Given the description of an element on the screen output the (x, y) to click on. 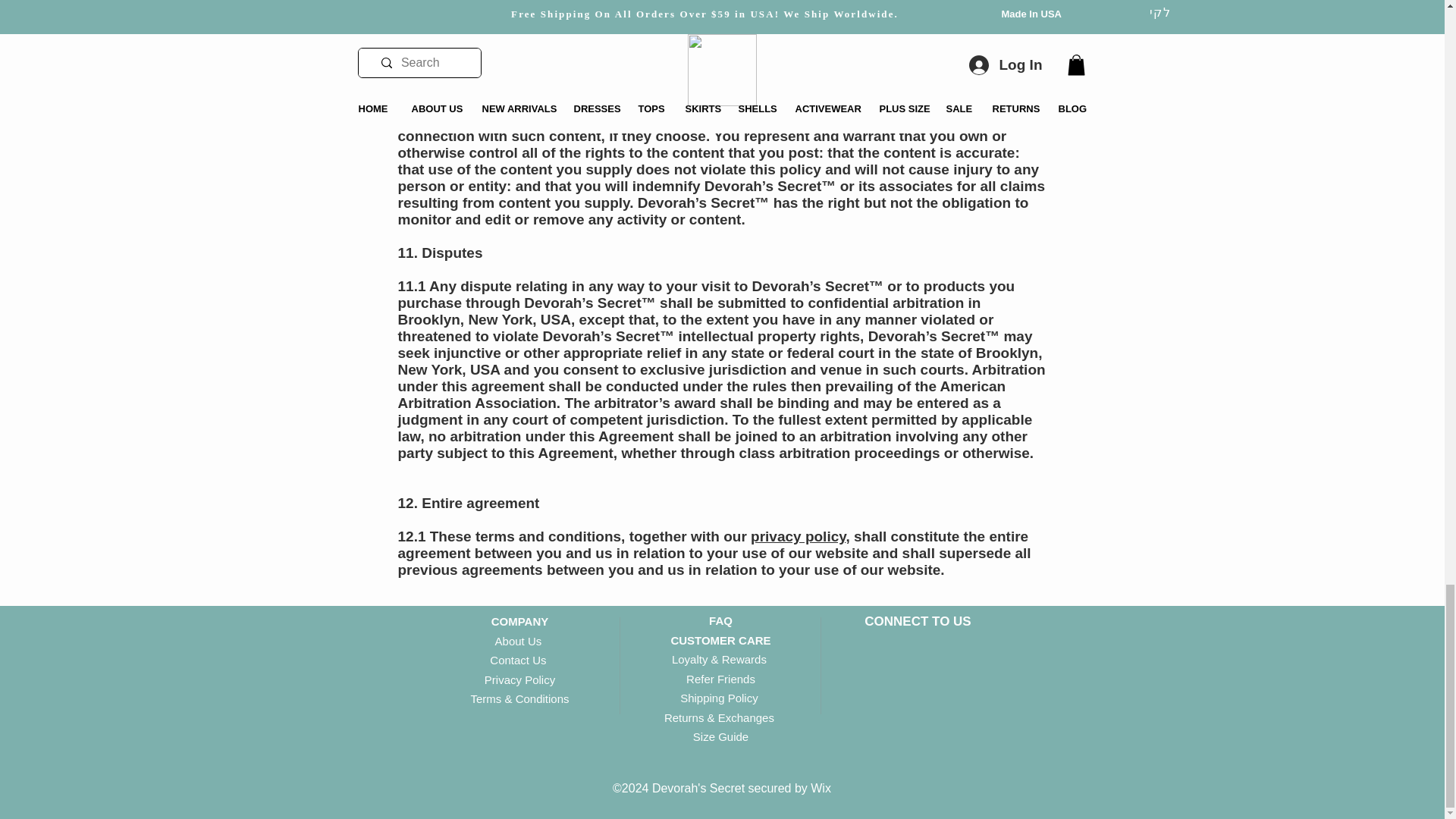
Contact Us  (518, 659)
Privacy Policy (519, 679)
FAQ (720, 620)
Refer Friends (720, 678)
Shipping Policy  (720, 697)
CUSTOMER CARE (719, 640)
privacy policy (798, 536)
About Us  (519, 640)
